Given the description of an element on the screen output the (x, y) to click on. 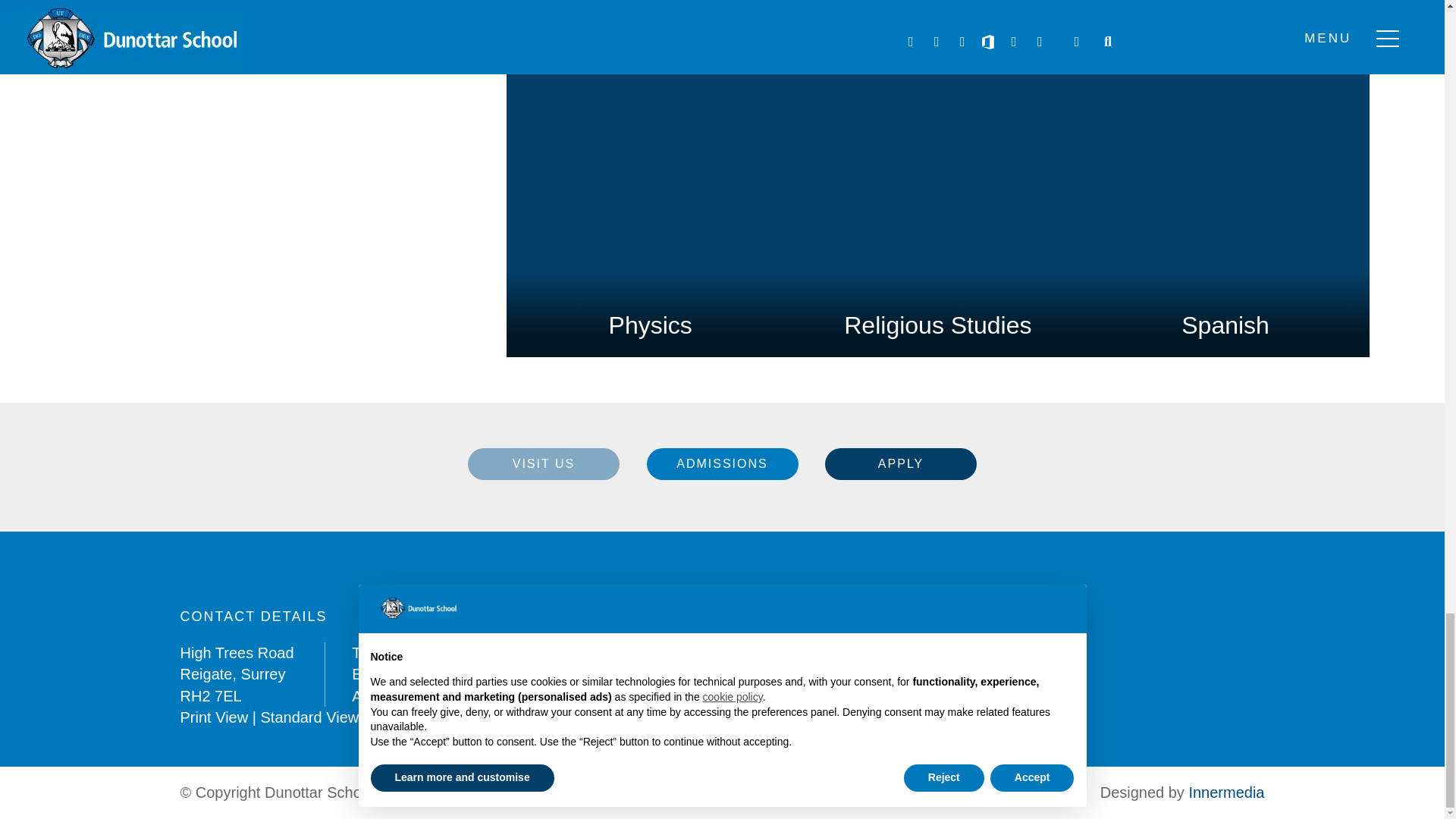
Switch to Standard Visibility (309, 717)
Switch to High Visibility (416, 717)
Switch to Print (214, 717)
